Given the description of an element on the screen output the (x, y) to click on. 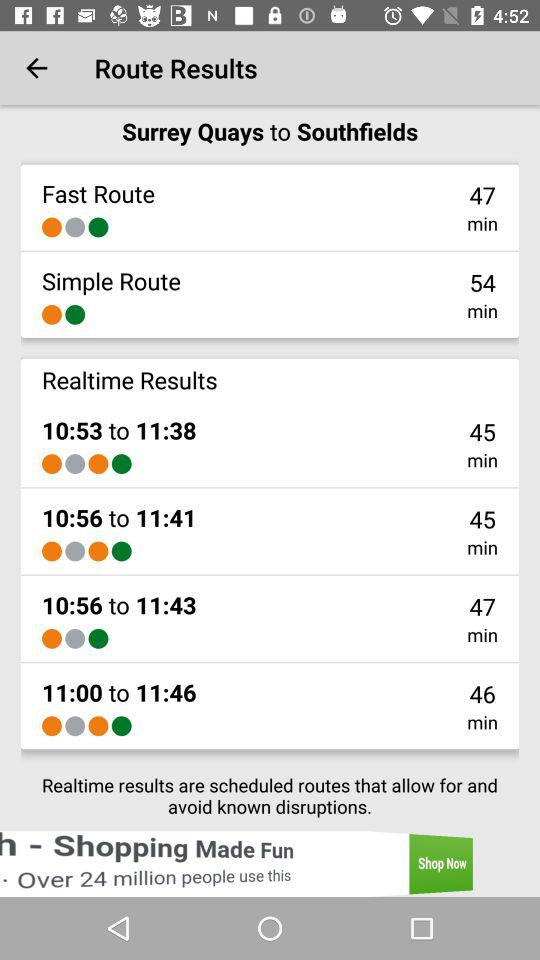
click on advertisement (270, 864)
